Given the description of an element on the screen output the (x, y) to click on. 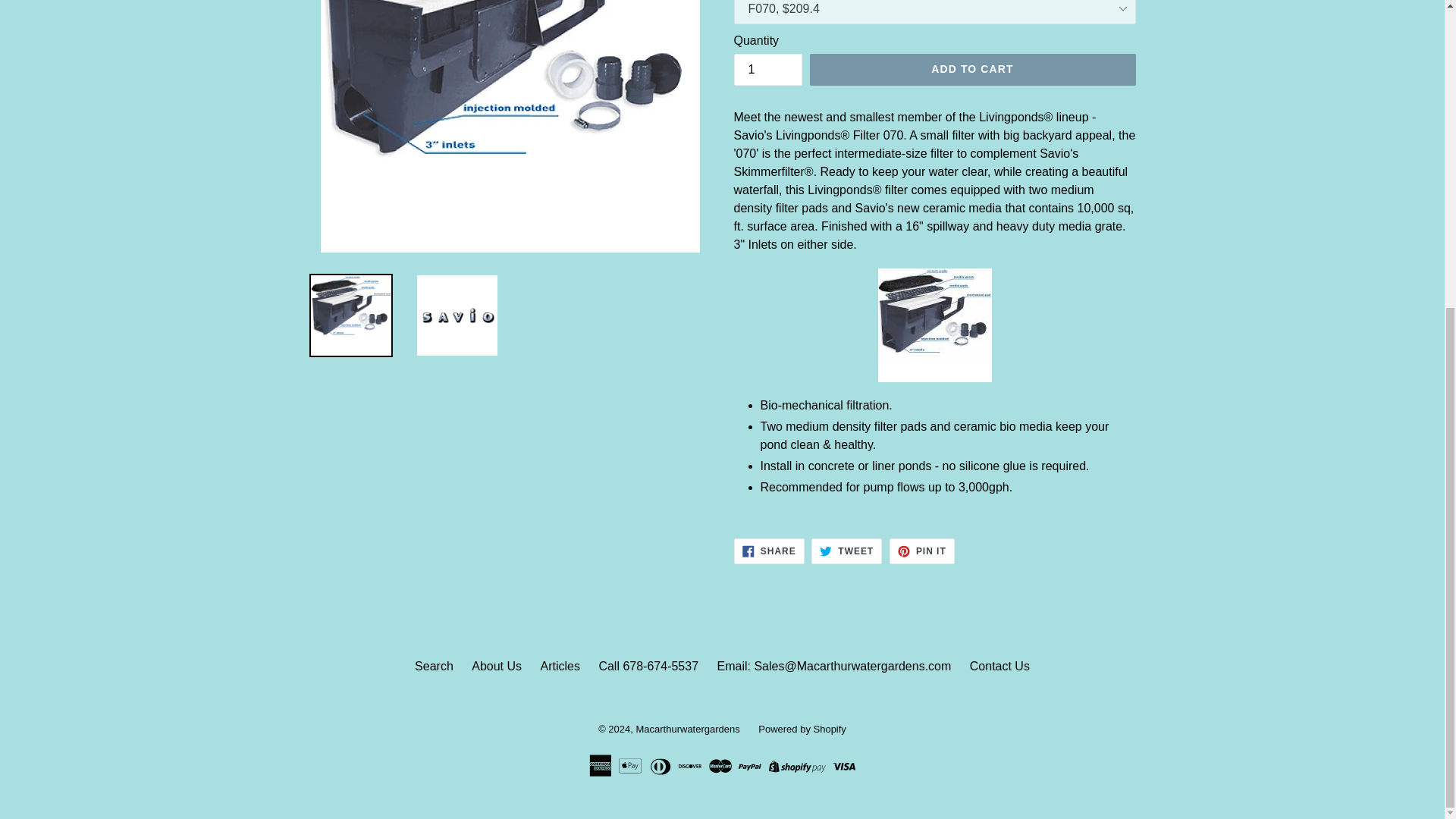
1 (767, 69)
